Given the description of an element on the screen output the (x, y) to click on. 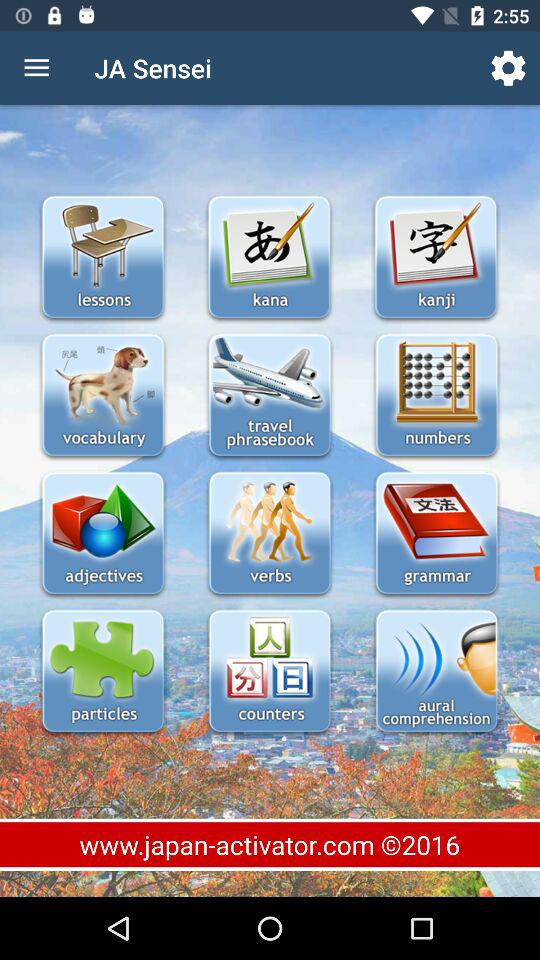
go to numbers (436, 396)
